Given the description of an element on the screen output the (x, y) to click on. 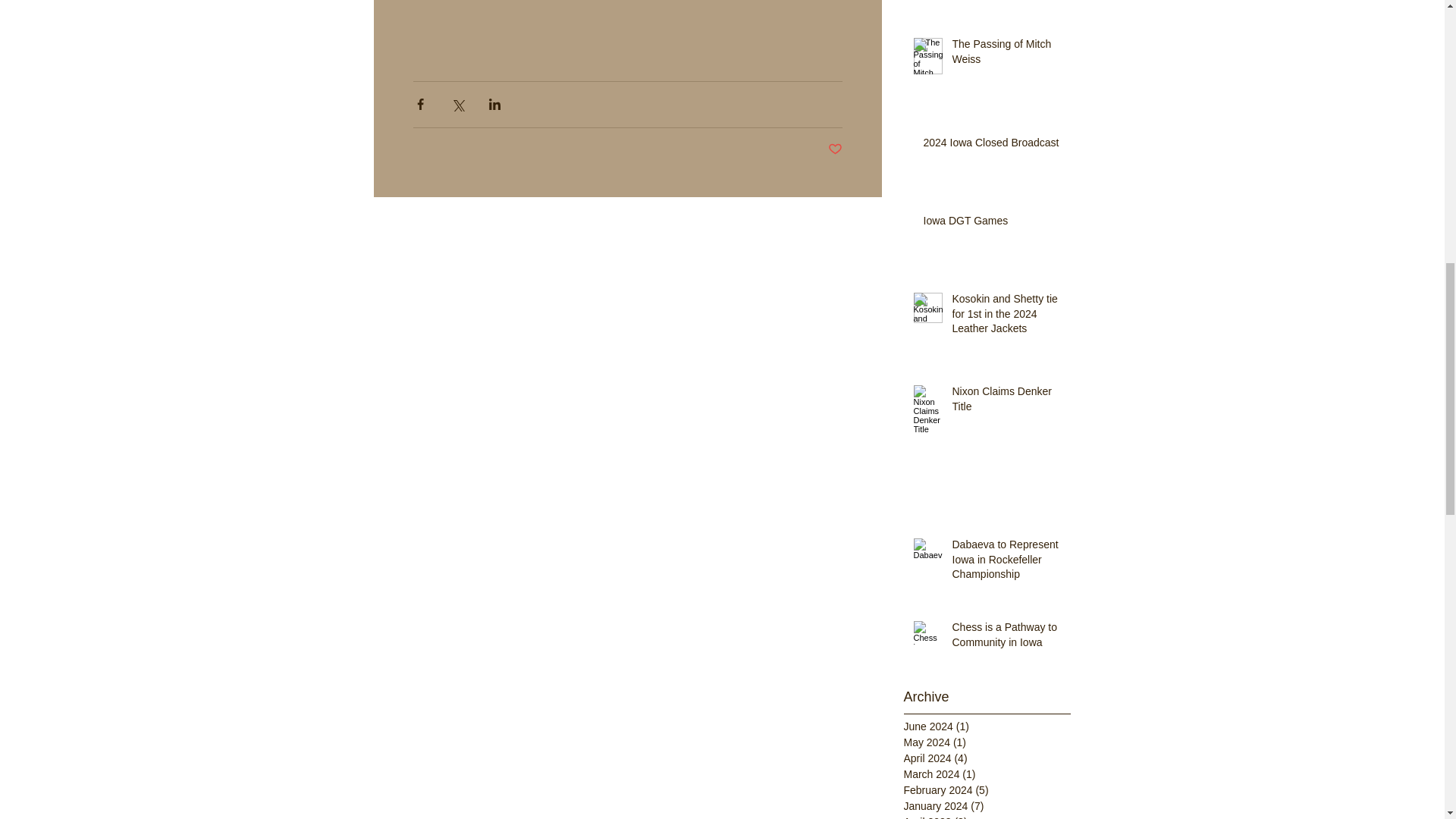
Kosokin and Shetty tie for 1st in the 2024 Leather Jackets (1006, 317)
The Passing of Mitch Weiss (1006, 54)
Iowa DGT Games (992, 224)
Post not marked as liked (835, 149)
2024 Iowa Closed Broadcast (992, 146)
